Given the description of an element on the screen output the (x, y) to click on. 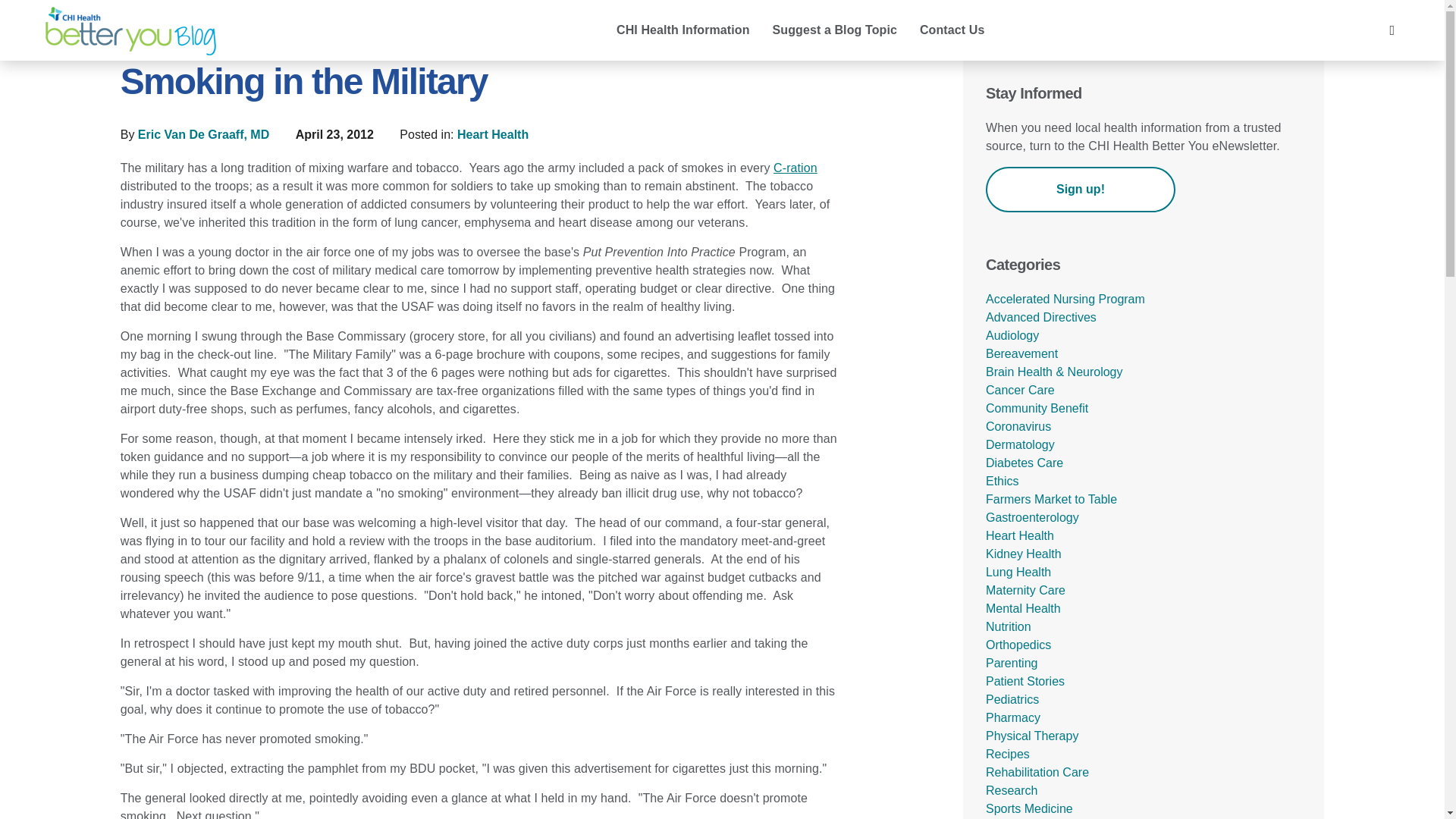
Gastroenterology (1031, 517)
Ethics (1002, 481)
Farmers Market to Table (1050, 499)
Cancer Care (1019, 390)
Mental Health (1023, 608)
Suggest a Blog Topic (834, 31)
Lung Health (1018, 571)
Diabetes Care (1023, 462)
Sign up! (1079, 189)
Bereavement (1021, 353)
